Given the description of an element on the screen output the (x, y) to click on. 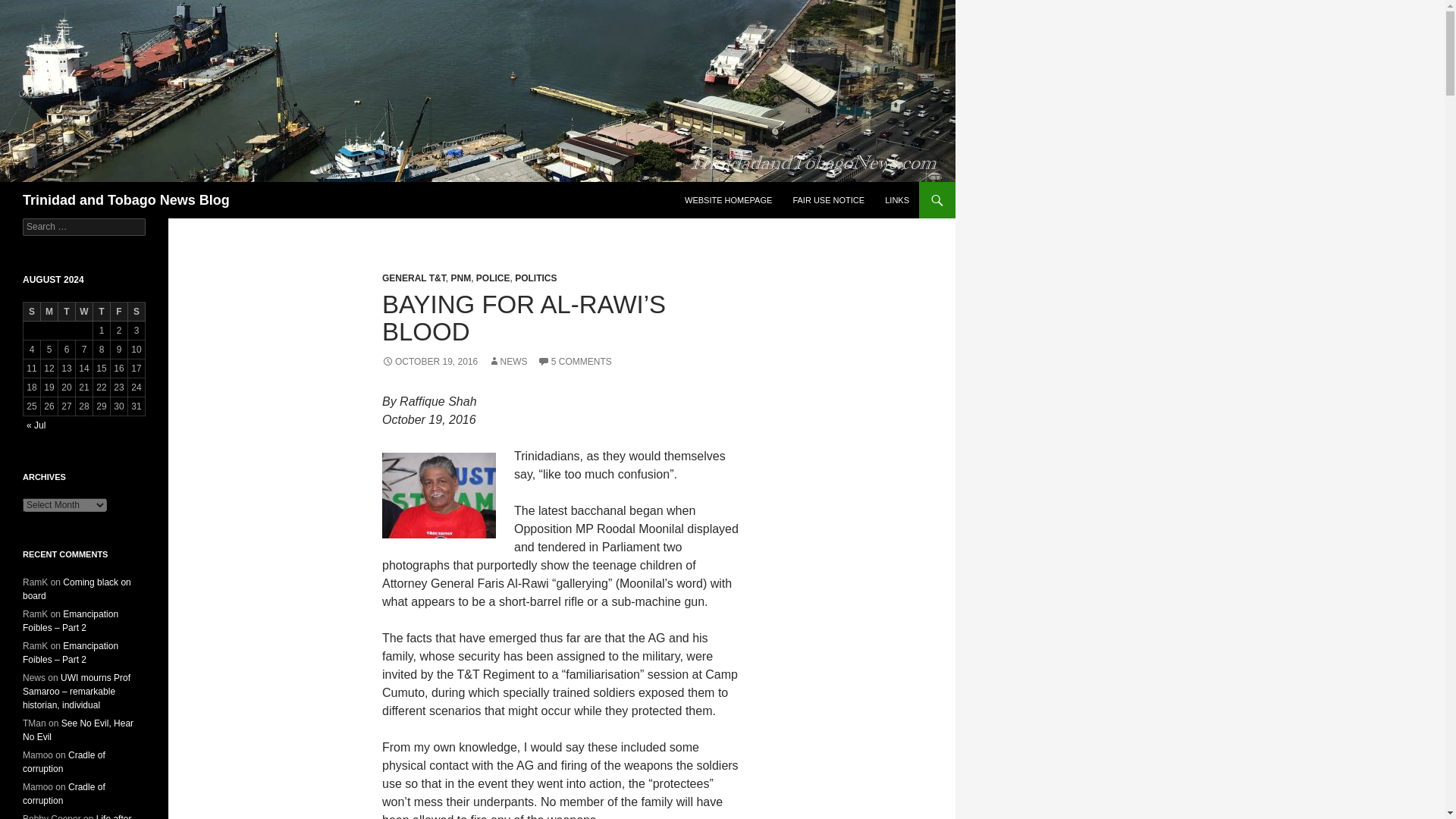
LINKS (897, 199)
POLICE (493, 277)
Friday (119, 311)
Thursday (101, 311)
NEWS (507, 361)
Trinidad and Tobago News Blog (126, 199)
Monday (49, 311)
Saturday (136, 311)
5 COMMENTS (574, 361)
Coming black on board (77, 589)
Sunday (31, 311)
Search (30, 8)
OCTOBER 19, 2016 (429, 361)
